Given the description of an element on the screen output the (x, y) to click on. 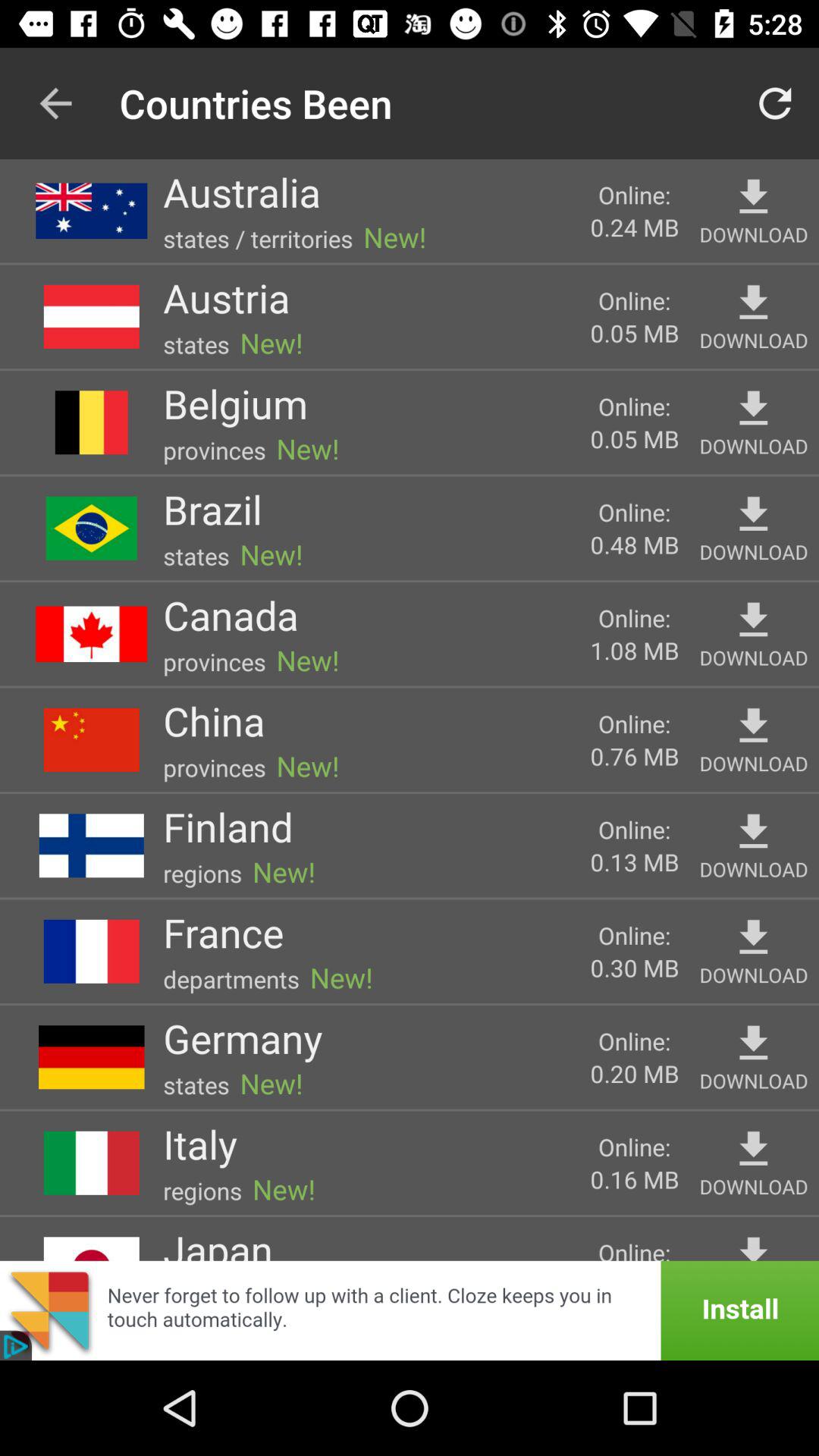
download option (753, 408)
